Given the description of an element on the screen output the (x, y) to click on. 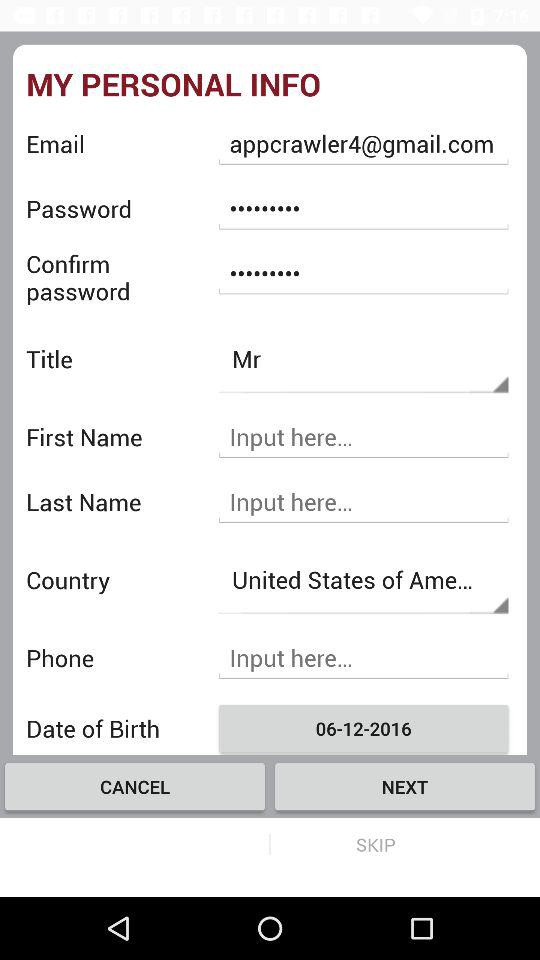
last name entry field (363, 502)
